Given the description of an element on the screen output the (x, y) to click on. 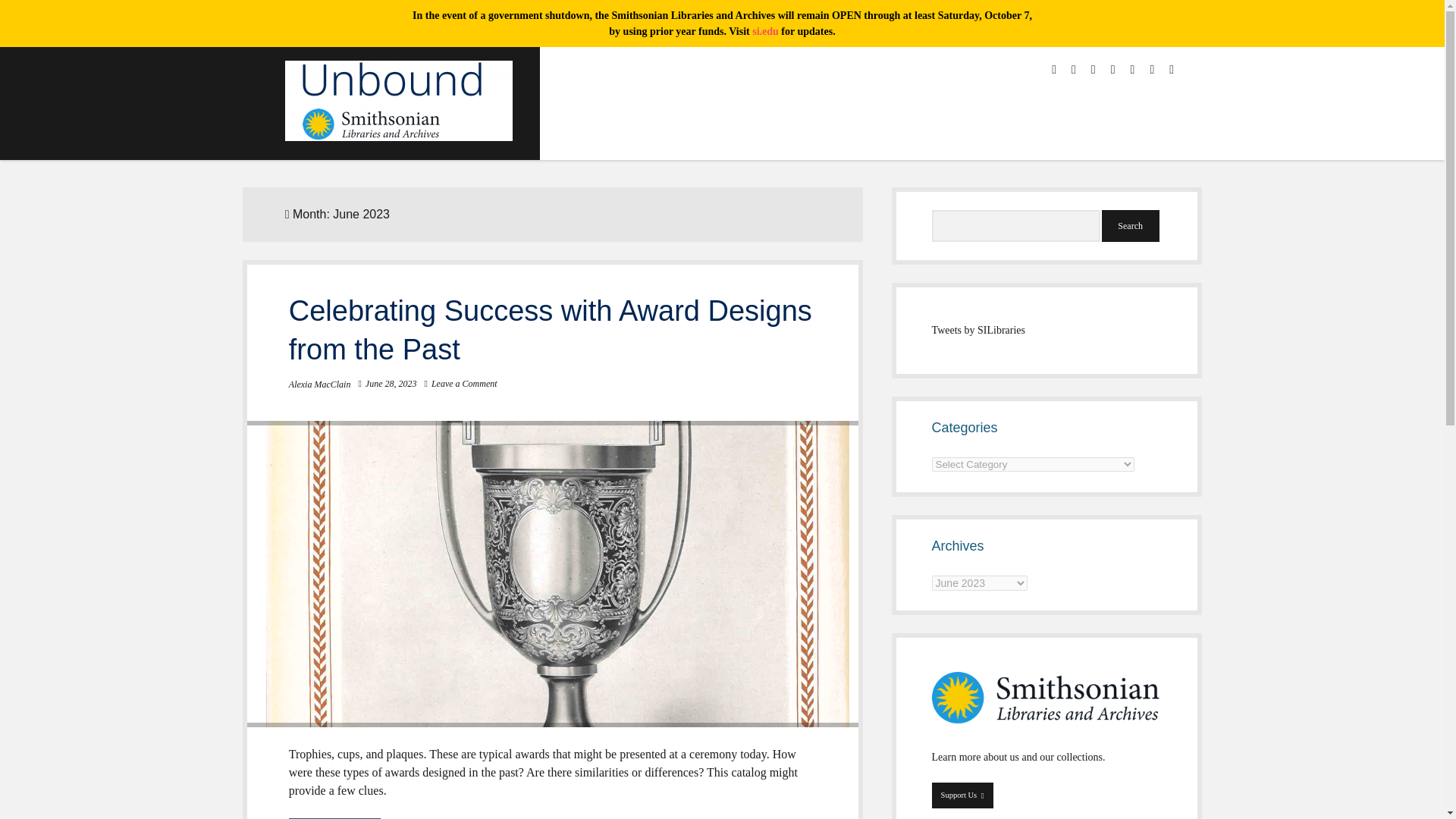
Tweets by SILibraries (978, 329)
flickr (1152, 69)
Search (1130, 225)
Celebrating Success with Award Designs from the Past (550, 329)
instagram (1093, 69)
Search (1130, 225)
youtube (1112, 69)
Search for: (1015, 225)
June 28, 2023 (390, 383)
rss (1133, 69)
rss (1133, 69)
tumblr (1171, 69)
Leave a Comment (463, 383)
Search (1130, 225)
